Given the description of an element on the screen output the (x, y) to click on. 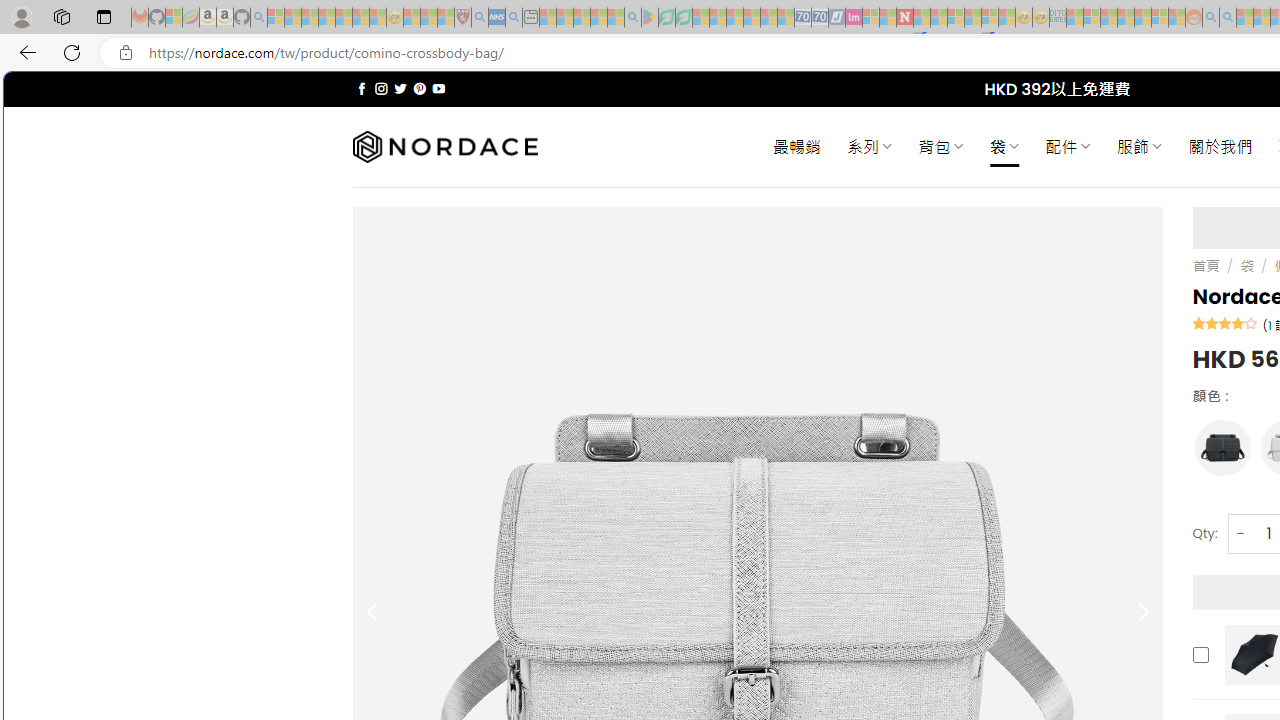
- (1240, 532)
